Given the description of an element on the screen output the (x, y) to click on. 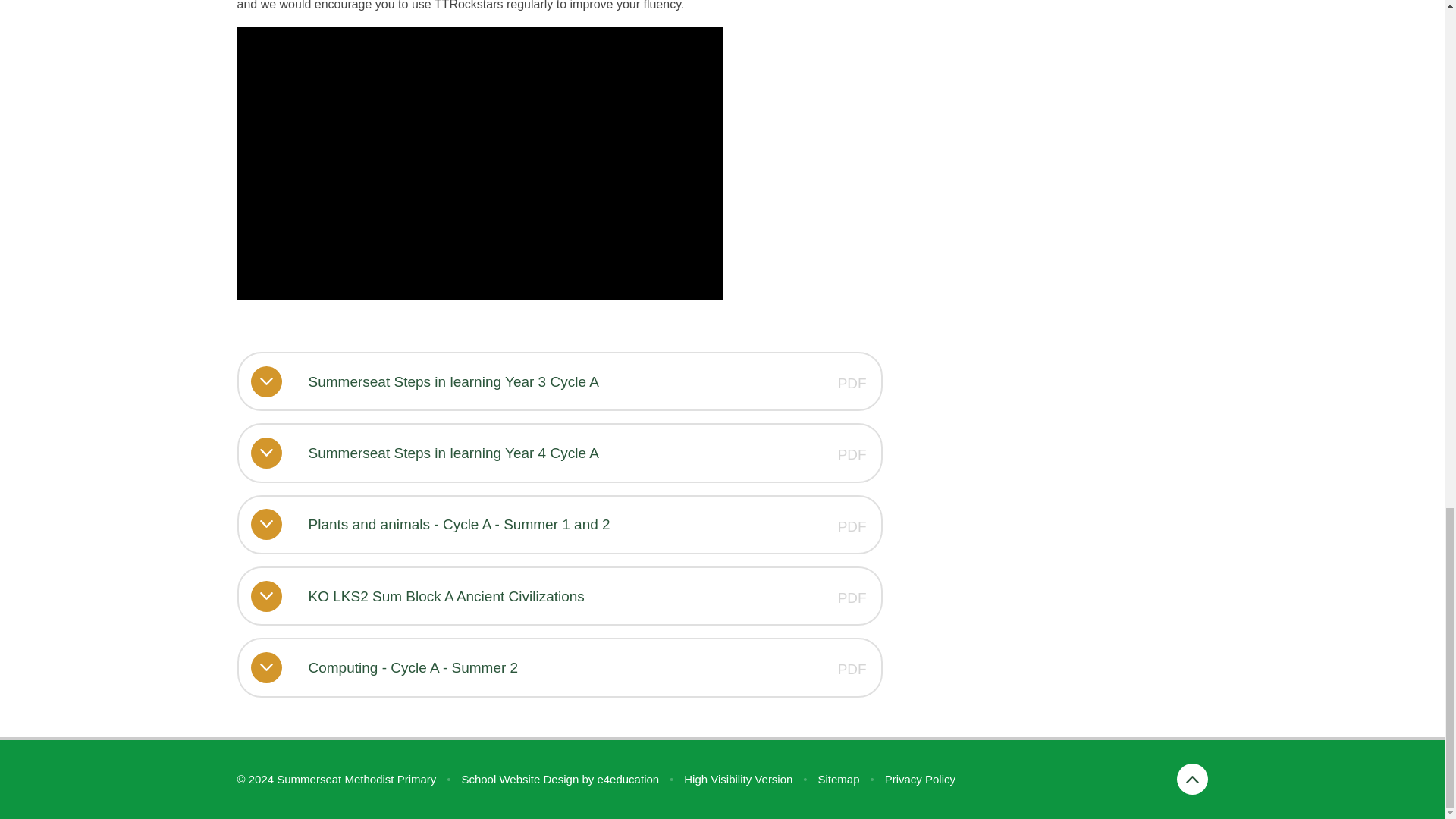
Beech class - Summer 2 (478, 163)
